Given the description of an element on the screen output the (x, y) to click on. 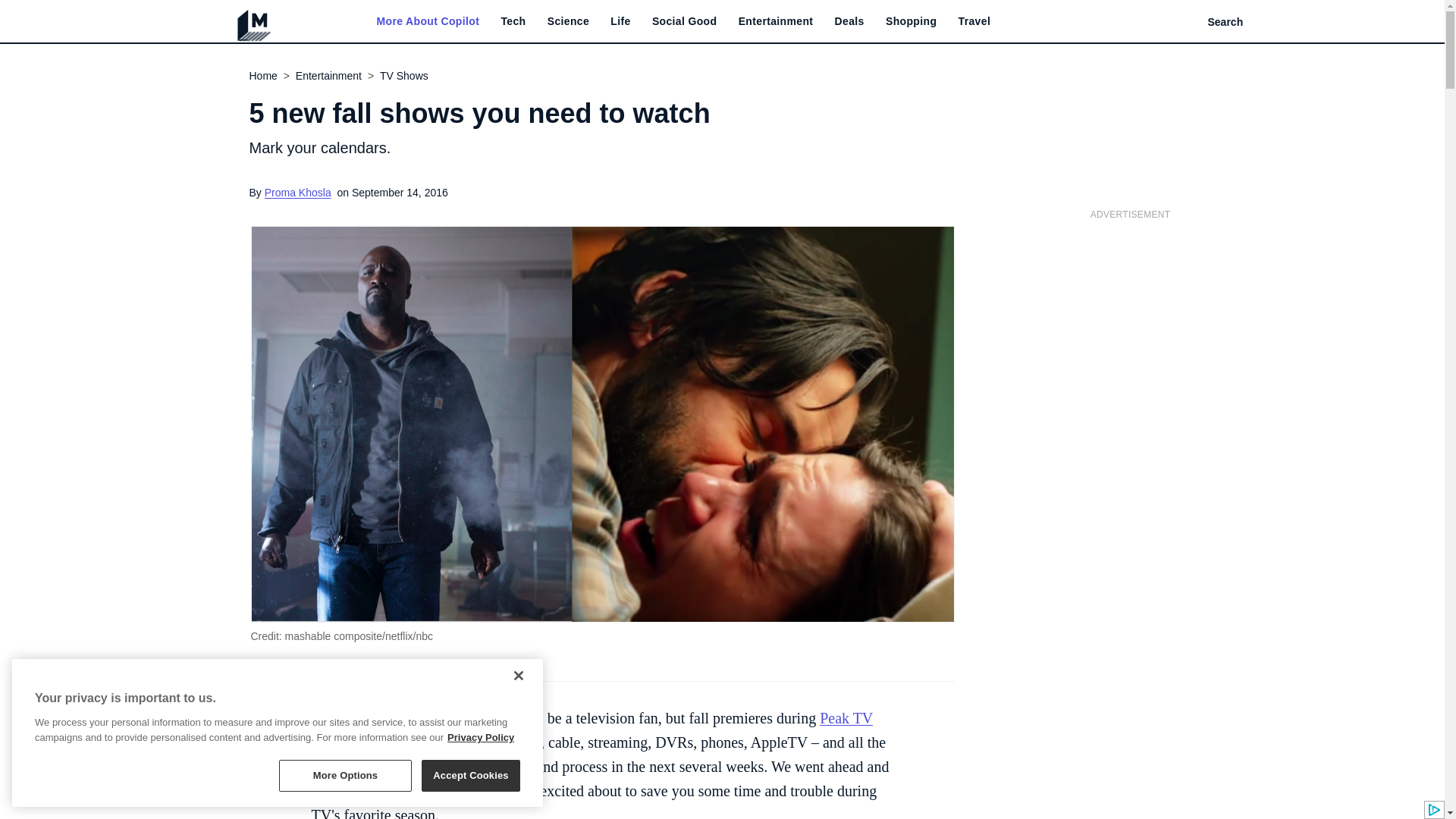
Tech (512, 21)
Deals (849, 21)
Social Good (684, 21)
More About Copilot (427, 21)
Life (620, 21)
Shopping (910, 21)
Entertainment (775, 21)
Science (568, 21)
Travel (974, 21)
